Given the description of an element on the screen output the (x, y) to click on. 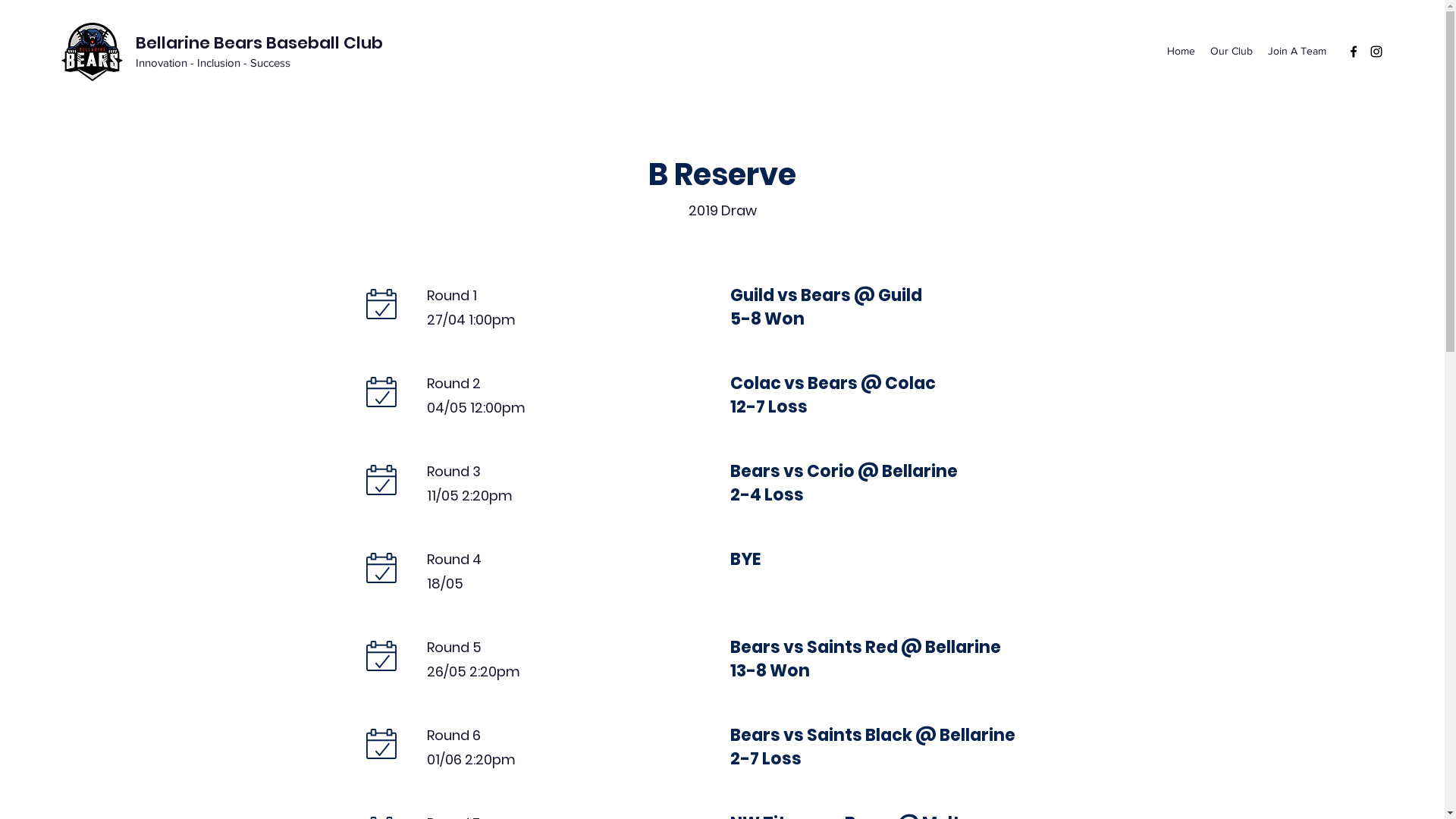
Home Element type: text (1180, 51)
Bellarine Bears Baseball Club Element type: text (258, 42)
Join A Team Element type: text (1296, 51)
Our Club Element type: text (1231, 51)
